Given the description of an element on the screen output the (x, y) to click on. 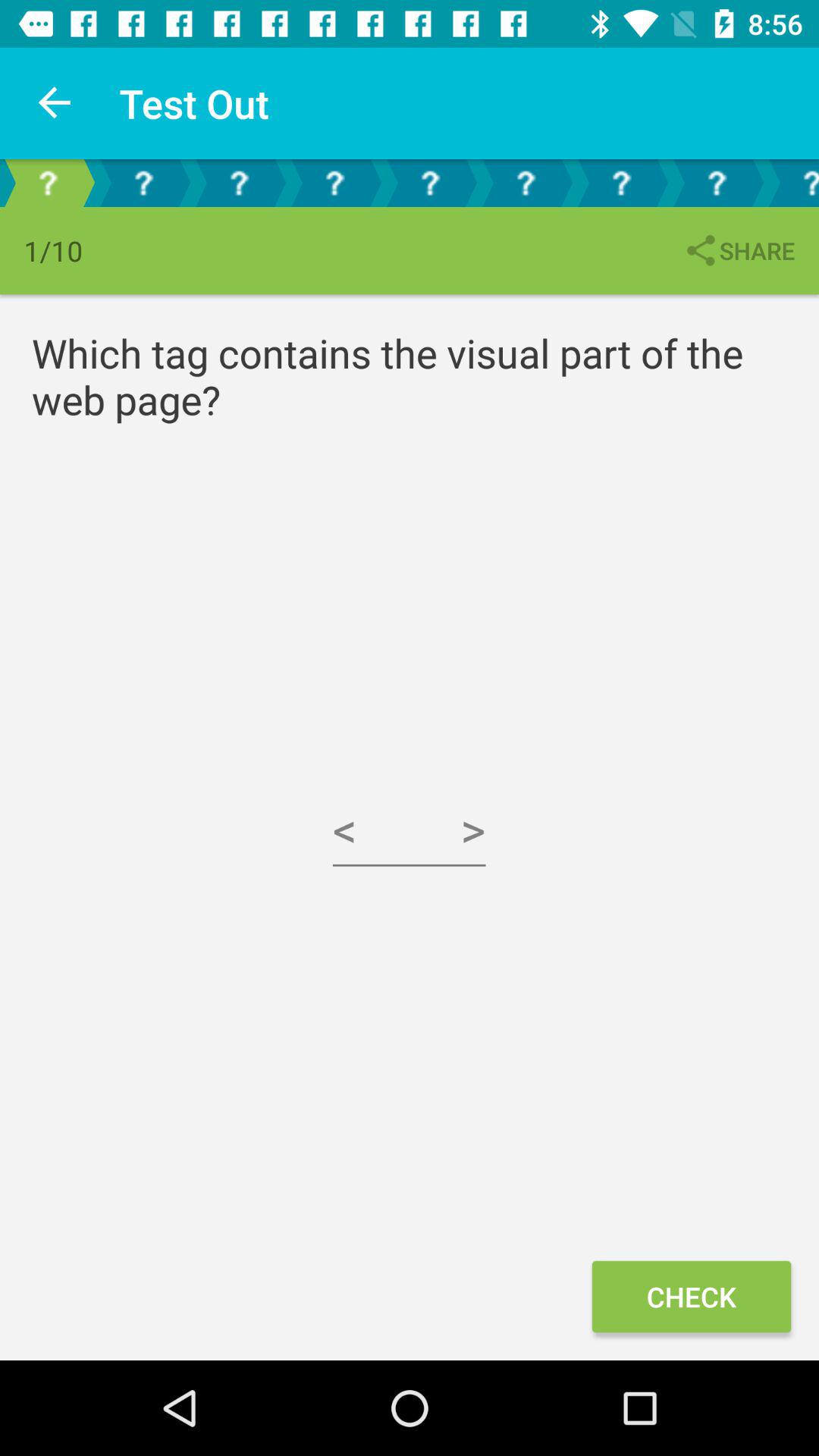
launch item above the which tag contains (738, 250)
